Given the description of an element on the screen output the (x, y) to click on. 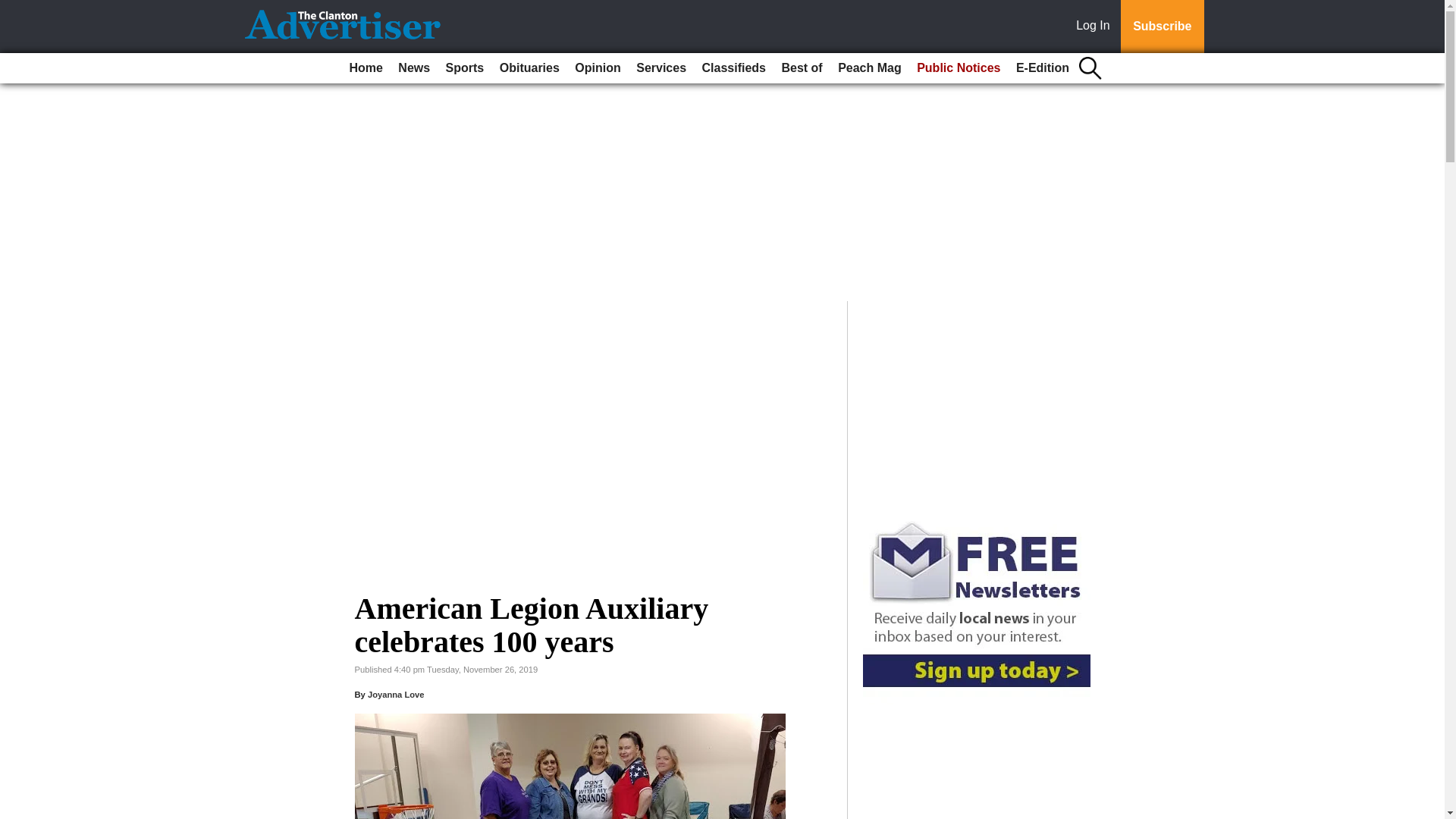
Opinion (597, 68)
Subscribe (1162, 26)
Best of (801, 68)
Sports (464, 68)
E-Edition (1042, 68)
Obituaries (529, 68)
News (413, 68)
Classifieds (733, 68)
Peach Mag (869, 68)
Joyanna Love (396, 694)
Home (365, 68)
Public Notices (958, 68)
Services (661, 68)
Go (13, 9)
Log In (1095, 26)
